Given the description of an element on the screen output the (x, y) to click on. 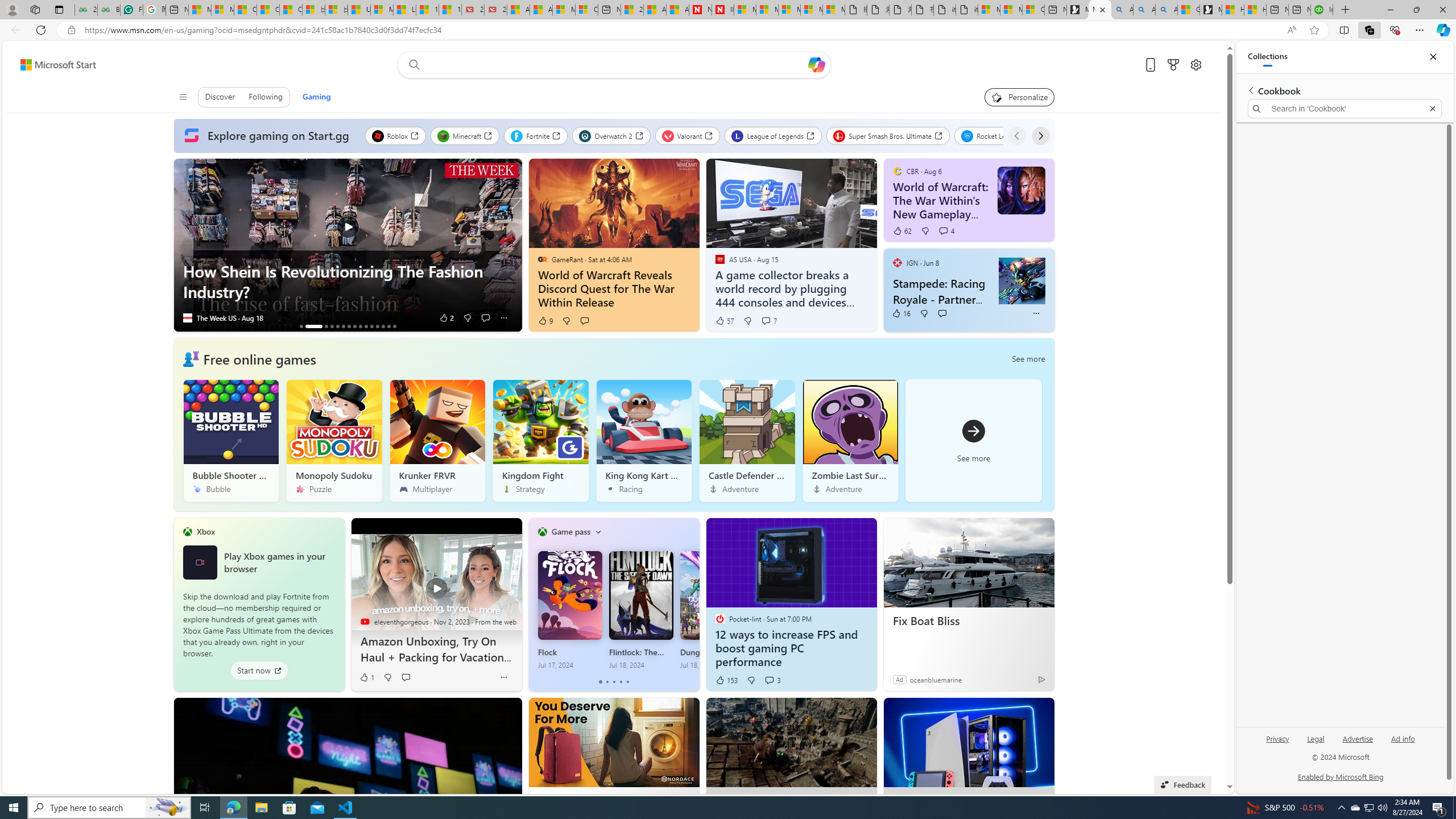
Intuit QuickBooks Online - Quickbooks (1322, 9)
Class: control icon-only (182, 97)
AutomationID: casualCarouselIcon (190, 358)
AutomationID: tab_nativead-infopane-3 (325, 326)
Exit search (1432, 108)
Minecraft (464, 135)
Previous slide (181, 245)
153 Like (726, 680)
Hide this story (1019, 711)
